Given the description of an element on the screen output the (x, y) to click on. 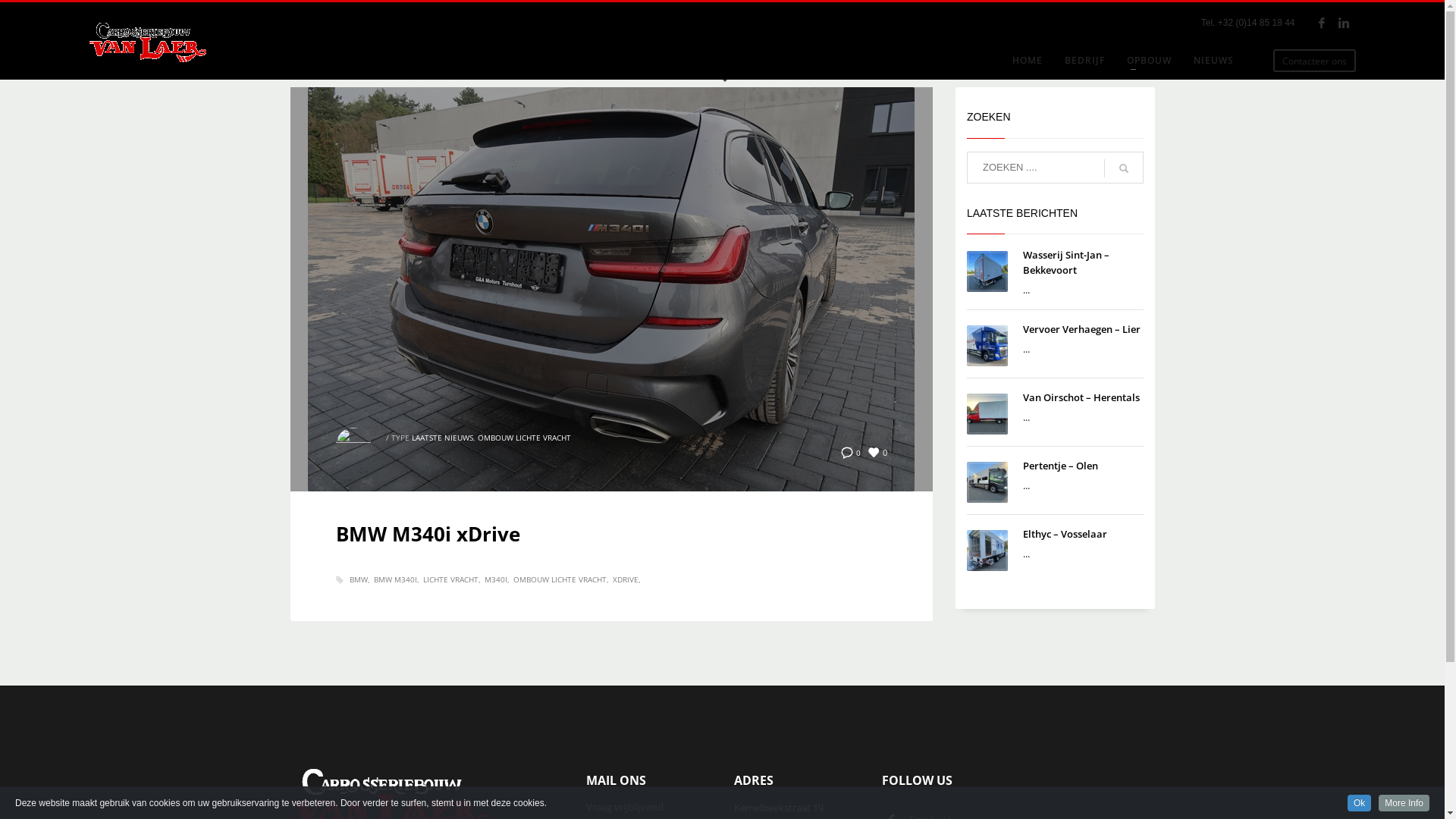
0 Element type: text (850, 452)
go Element type: text (1123, 168)
Linkedin Element type: hover (1344, 22)
Contacteer ons Element type: text (1314, 60)
OPBOUW Element type: text (1148, 60)
Facebook Element type: hover (1321, 22)
LICHTE VRACHT Element type: text (451, 579)
OMBOUW LICHTE VRACHT Element type: text (560, 579)
M340I Element type: text (495, 579)
HOME Element type: text (1027, 60)
XDRIVE Element type: text (626, 579)
Kwaliteit en topafwerking Element type: hover (147, 42)
0 Element type: text (877, 452)
Ok Element type: text (1359, 802)
More Info Element type: text (1403, 802)
NIEUWS Element type: text (1213, 60)
BEDRIJF Element type: text (1084, 60)
LAATSTE NIEUWS Element type: text (441, 437)
OMBOUW LICHTE VRACHT Element type: text (524, 437)
BMW Element type: text (358, 579)
BMW M340i xDrive Element type: text (427, 533)
BMW M340I Element type: text (395, 579)
